Given the description of an element on the screen output the (x, y) to click on. 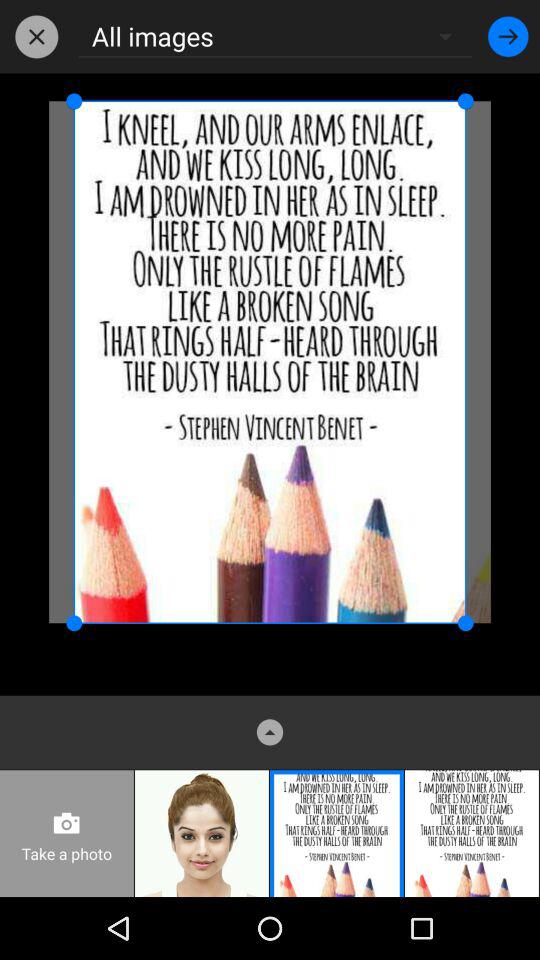
launch the item next to the all images icon (508, 36)
